Given the description of an element on the screen output the (x, y) to click on. 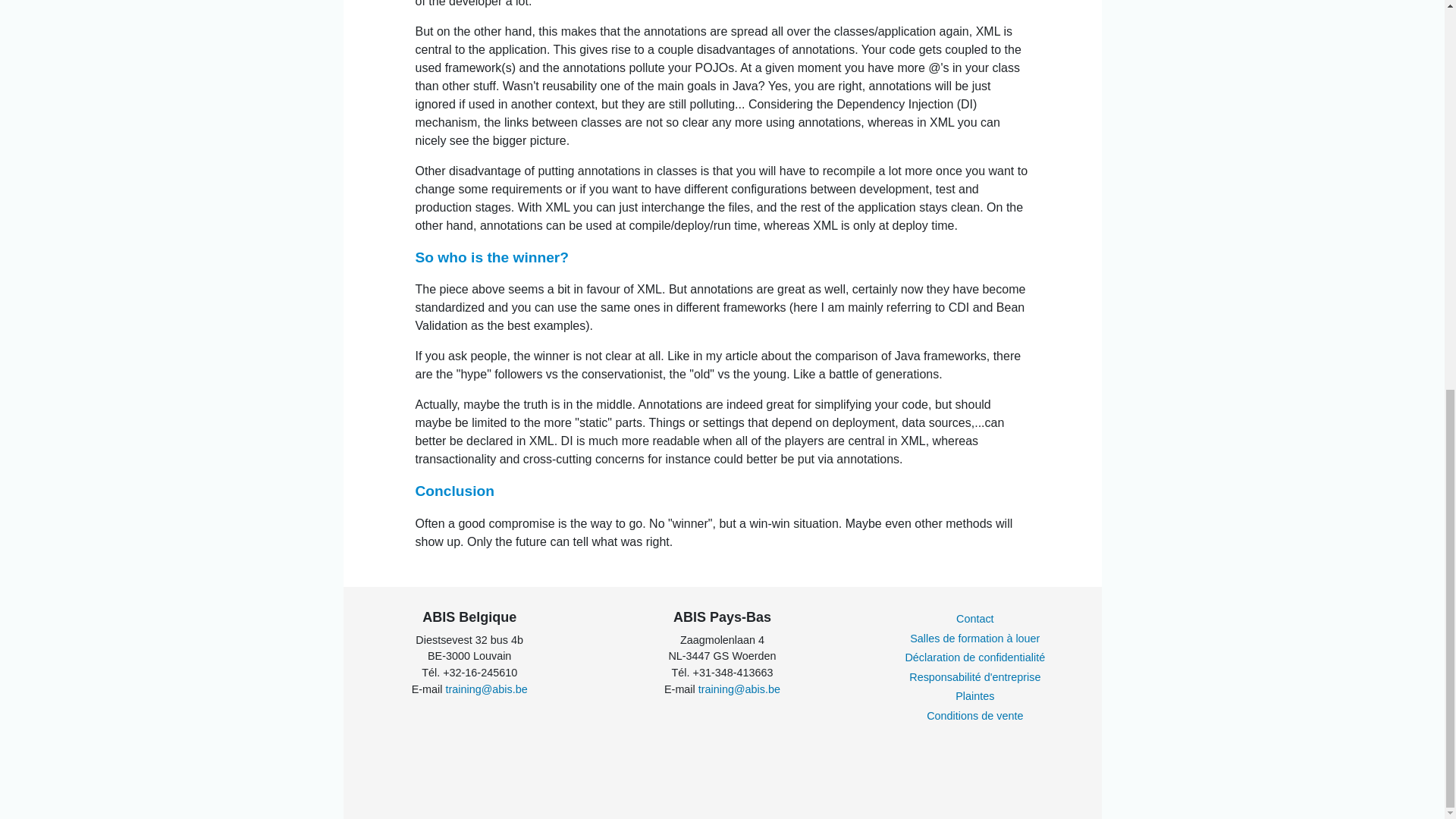
Conditions de vente (974, 715)
Plaintes (974, 695)
Contact (975, 618)
